Given the description of an element on the screen output the (x, y) to click on. 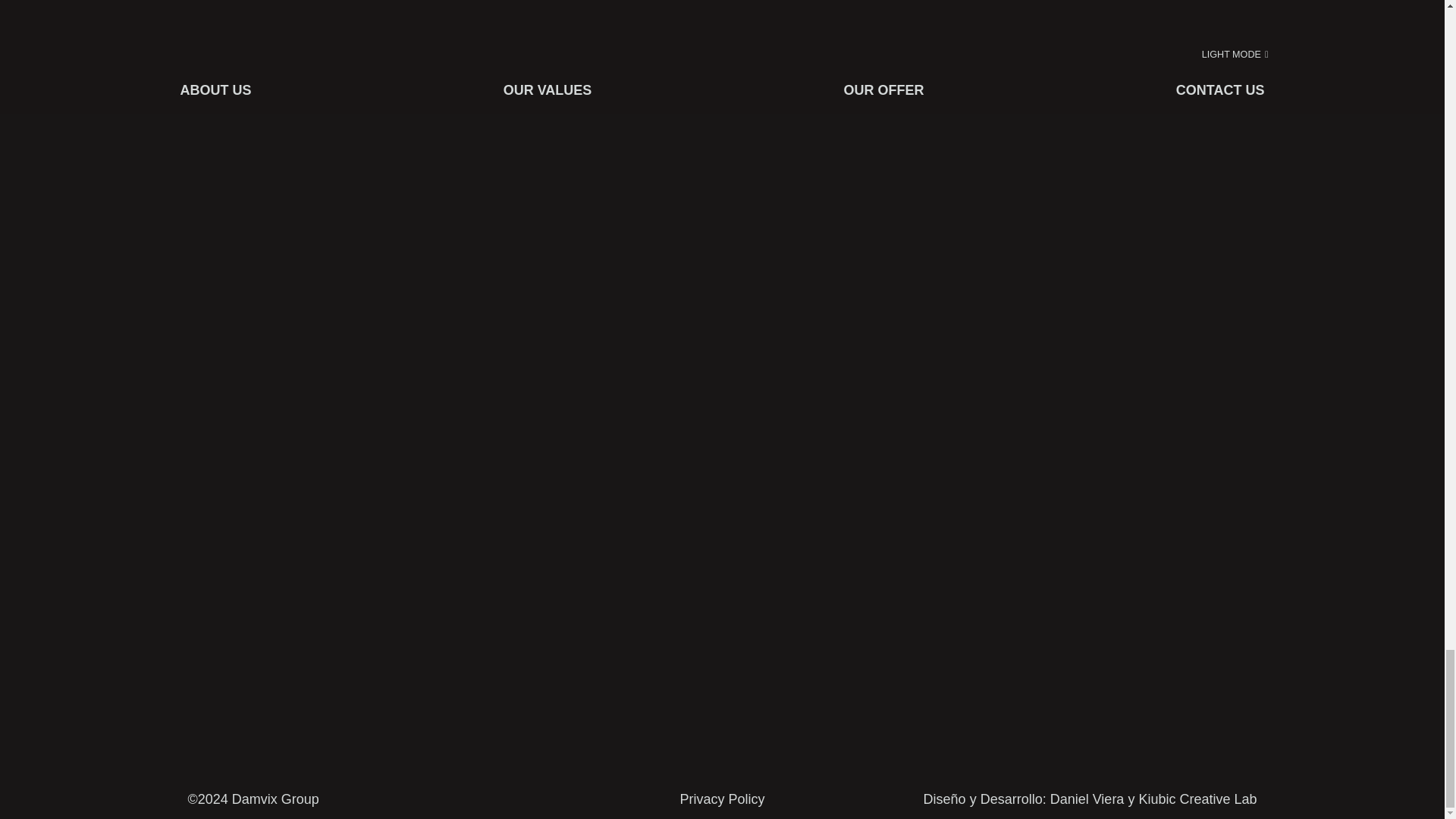
Privacy Policy (721, 798)
Daniel Viera (1086, 798)
Kiubic Creative Lab (1197, 798)
